Given the description of an element on the screen output the (x, y) to click on. 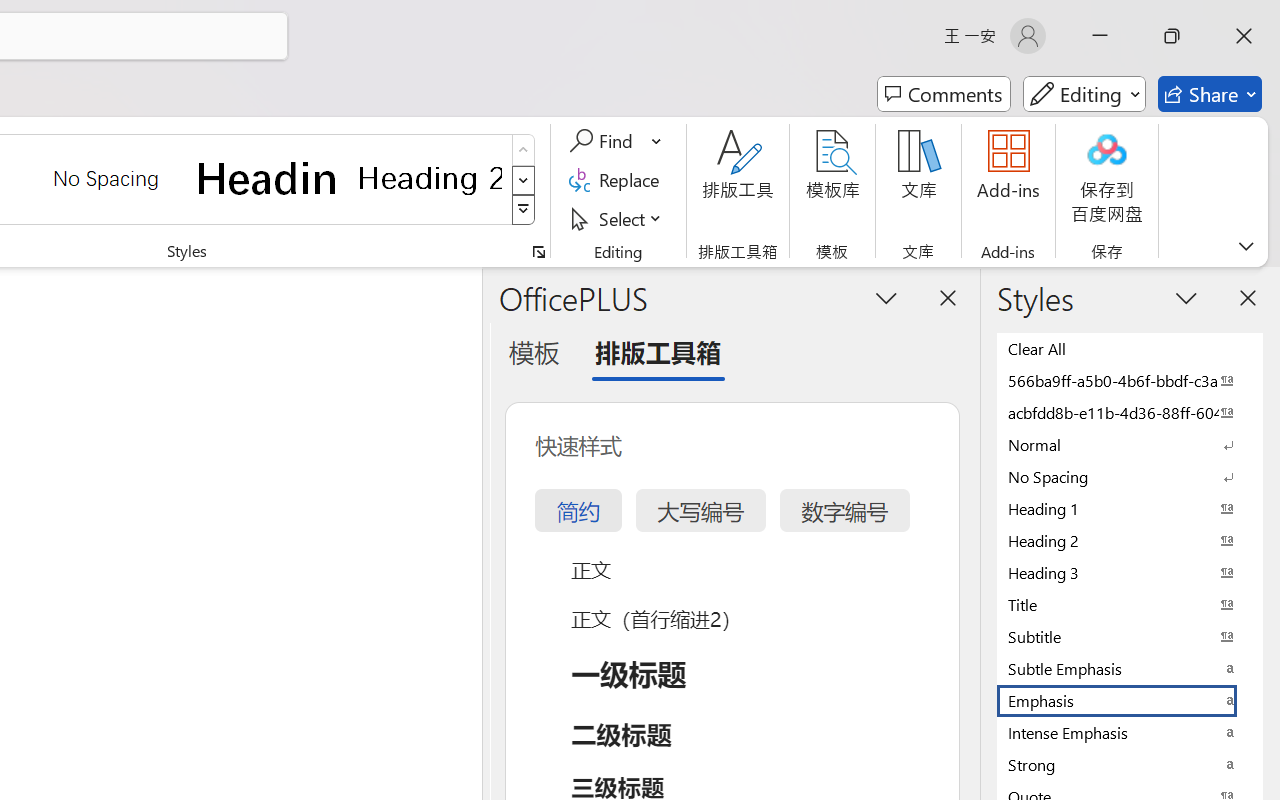
Find (604, 141)
Heading 2 (429, 178)
acbfdd8b-e11b-4d36-88ff-6049b138f862 (1130, 412)
Heading 1 (267, 178)
Replace... (617, 179)
Subtle Emphasis (1130, 668)
Task Pane Options (886, 297)
Restore Down (1172, 36)
Styles (523, 209)
Mode (1083, 94)
